Given the description of an element on the screen output the (x, y) to click on. 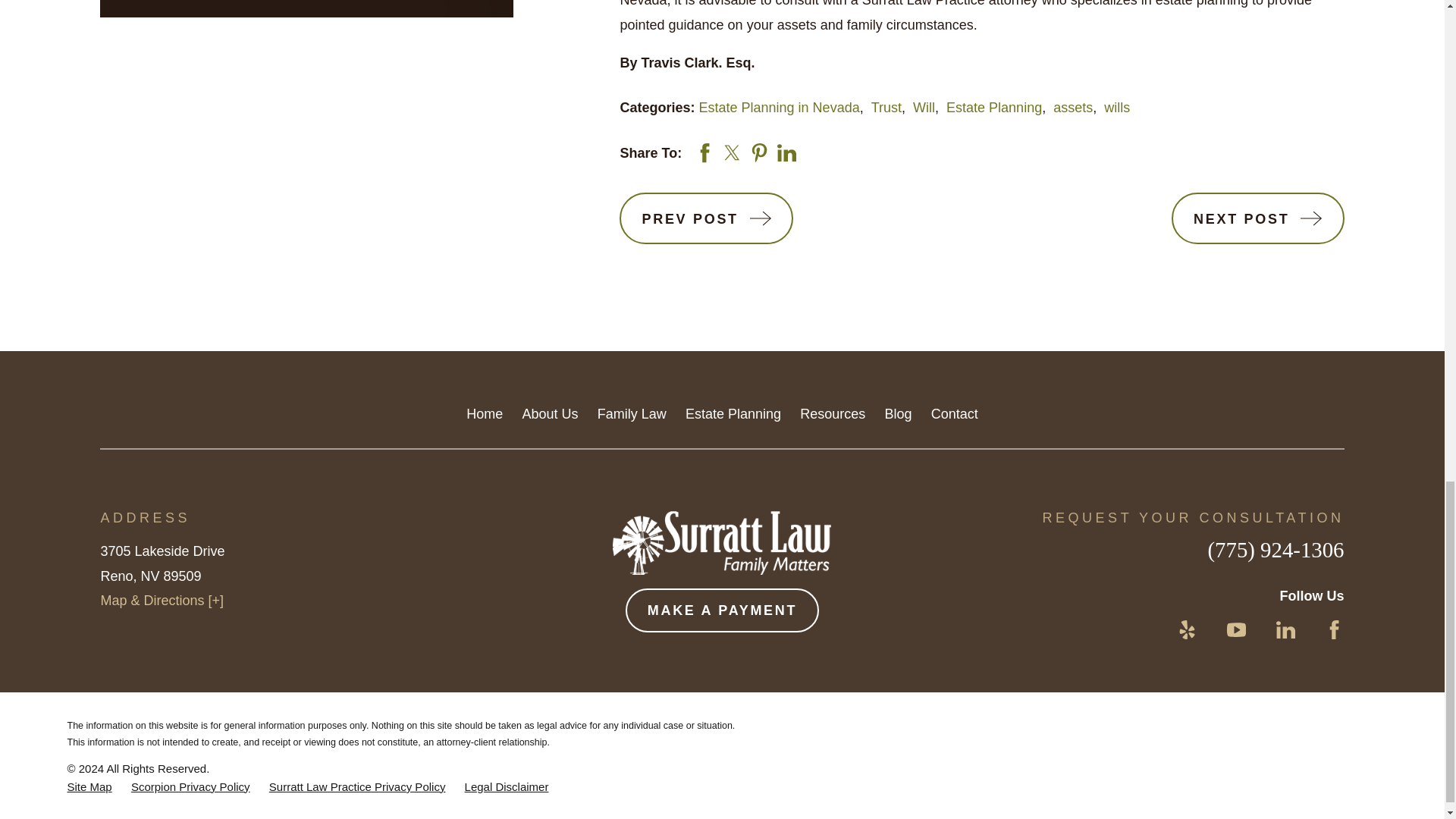
Facebook (1333, 629)
YouTube (1236, 629)
Yelp (1186, 629)
LinkedIn (1285, 629)
Home (721, 542)
